Given the description of an element on the screen output the (x, y) to click on. 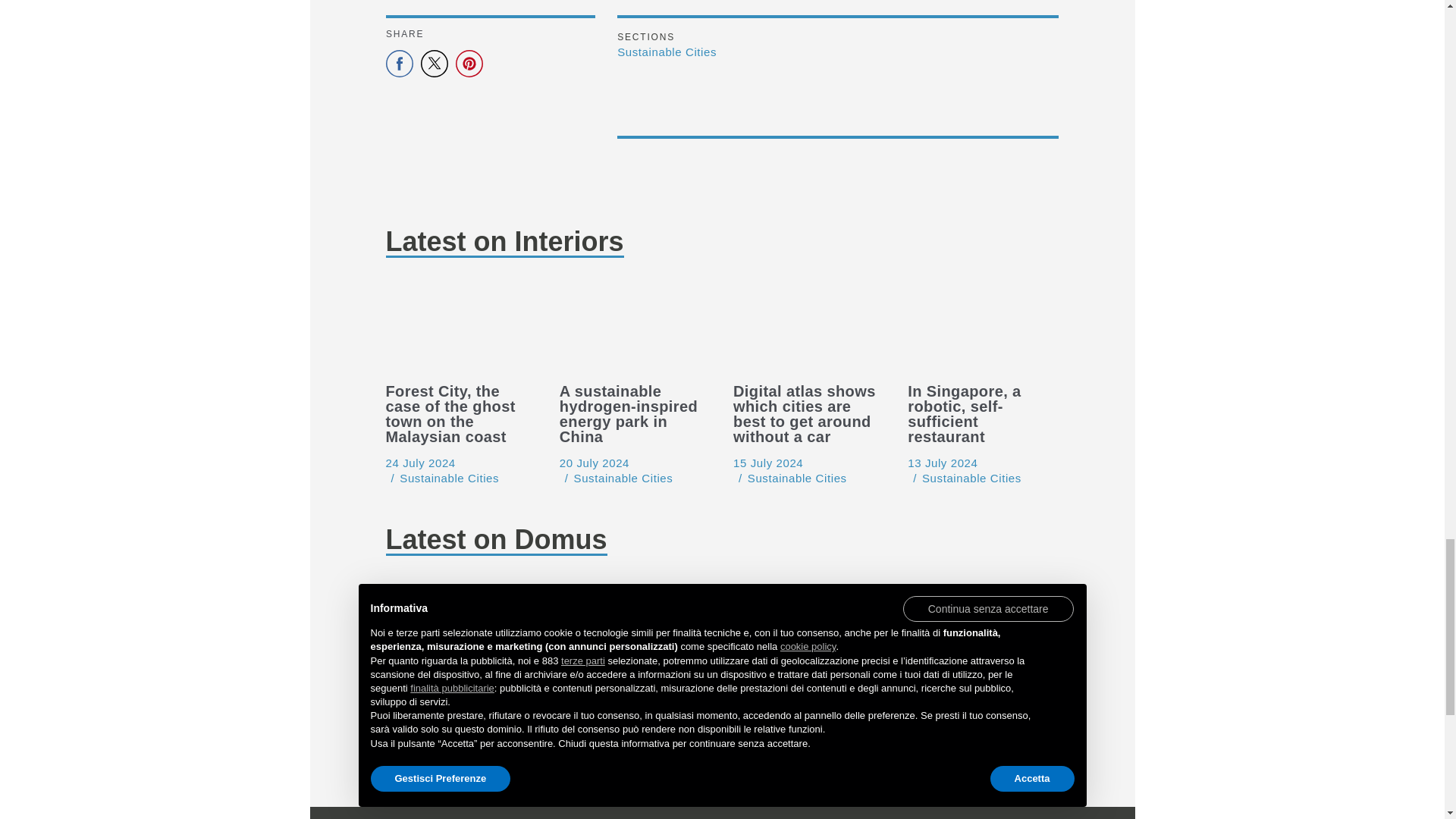
A sustainable hydrogen-inspired energy park in China (634, 328)
Casa Brivio is a tribute to milanese modernism  (419, 745)
A drive-thru in Buenos Aires seeks poetry in structure (982, 626)
La Bussola: an Italian coast legend from the Domus archive (593, 760)
In Singapore, a robotic, self-sufficient restaurant (941, 462)
In Singapore, a robotic, self-sufficient restaurant (982, 328)
La Bussola: an Italian coast legend from the Domus archive (634, 626)
Casa Brivio is a tribute to milanese modernism  (460, 626)
A sustainable hydrogen-inspired energy park in China (593, 462)
A drive-thru in Buenos Aires seeks poetry in structure (941, 745)
